Given the description of an element on the screen output the (x, y) to click on. 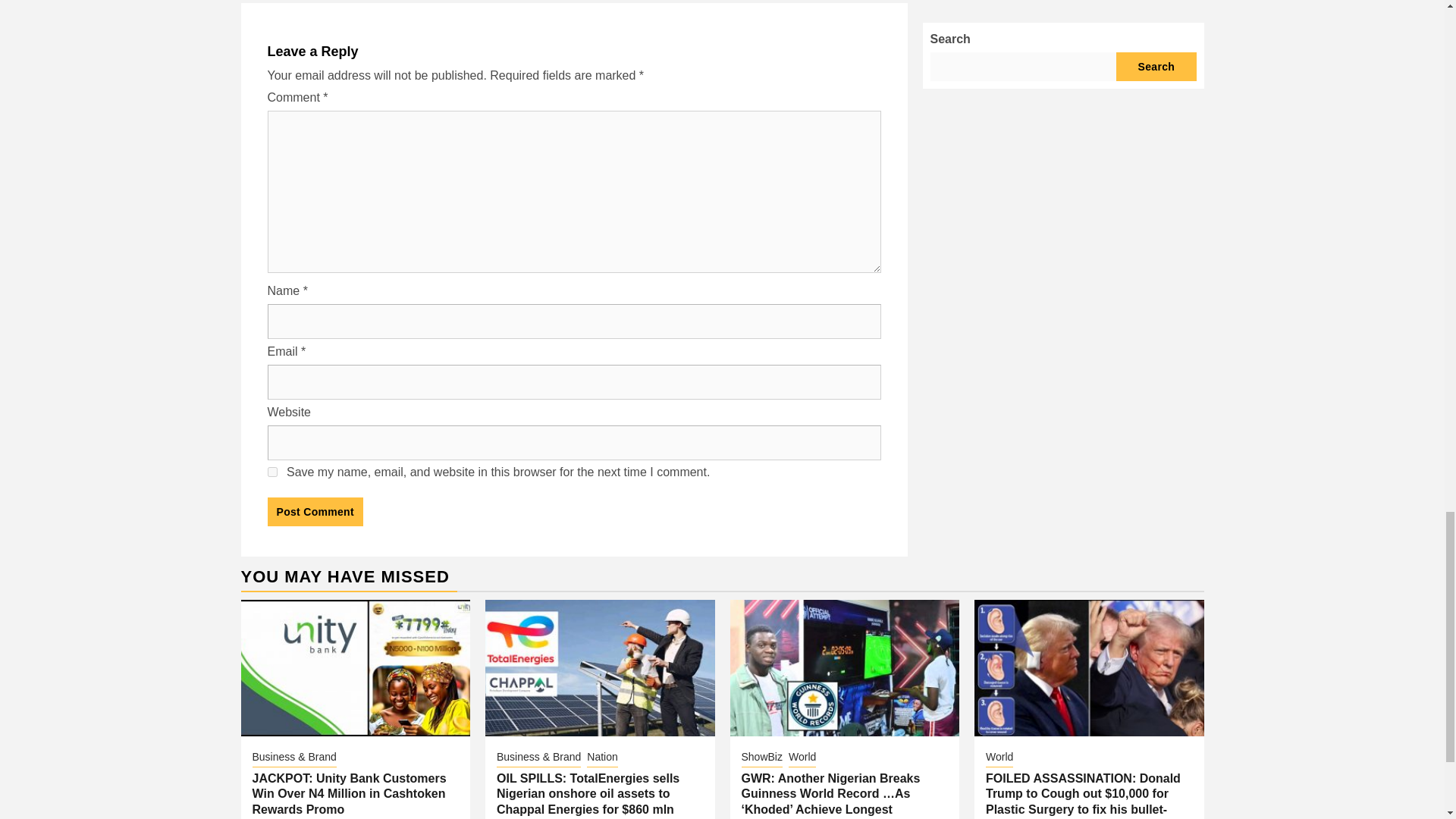
yes (271, 471)
Post Comment (314, 511)
